Given the description of an element on the screen output the (x, y) to click on. 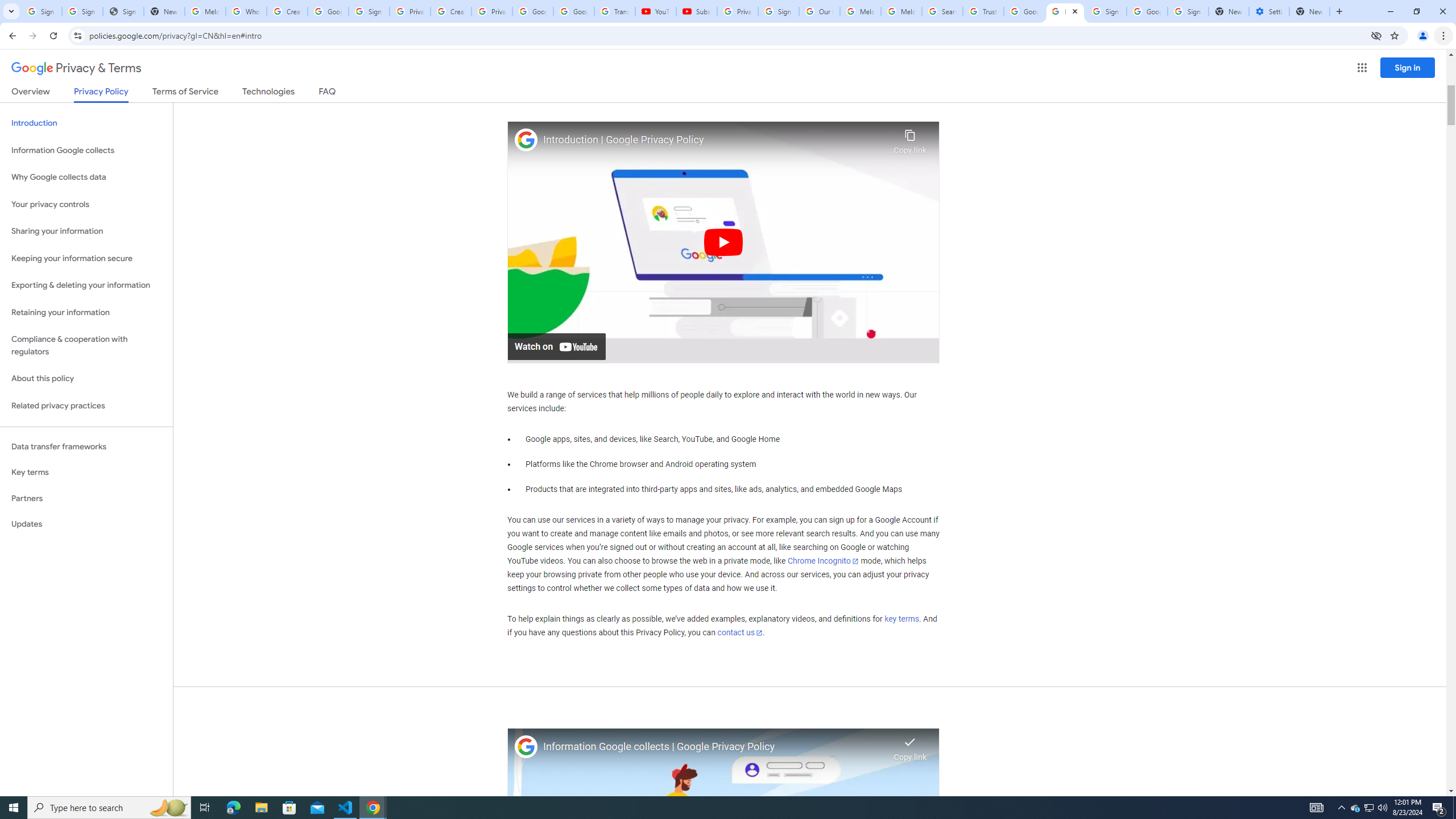
Data transfer frameworks (86, 446)
Why Google collects data (86, 176)
Information Google collects (86, 150)
Sign in - Google Accounts (81, 11)
Sign in - Google Accounts (777, 11)
About this policy (86, 379)
